Given the description of an element on the screen output the (x, y) to click on. 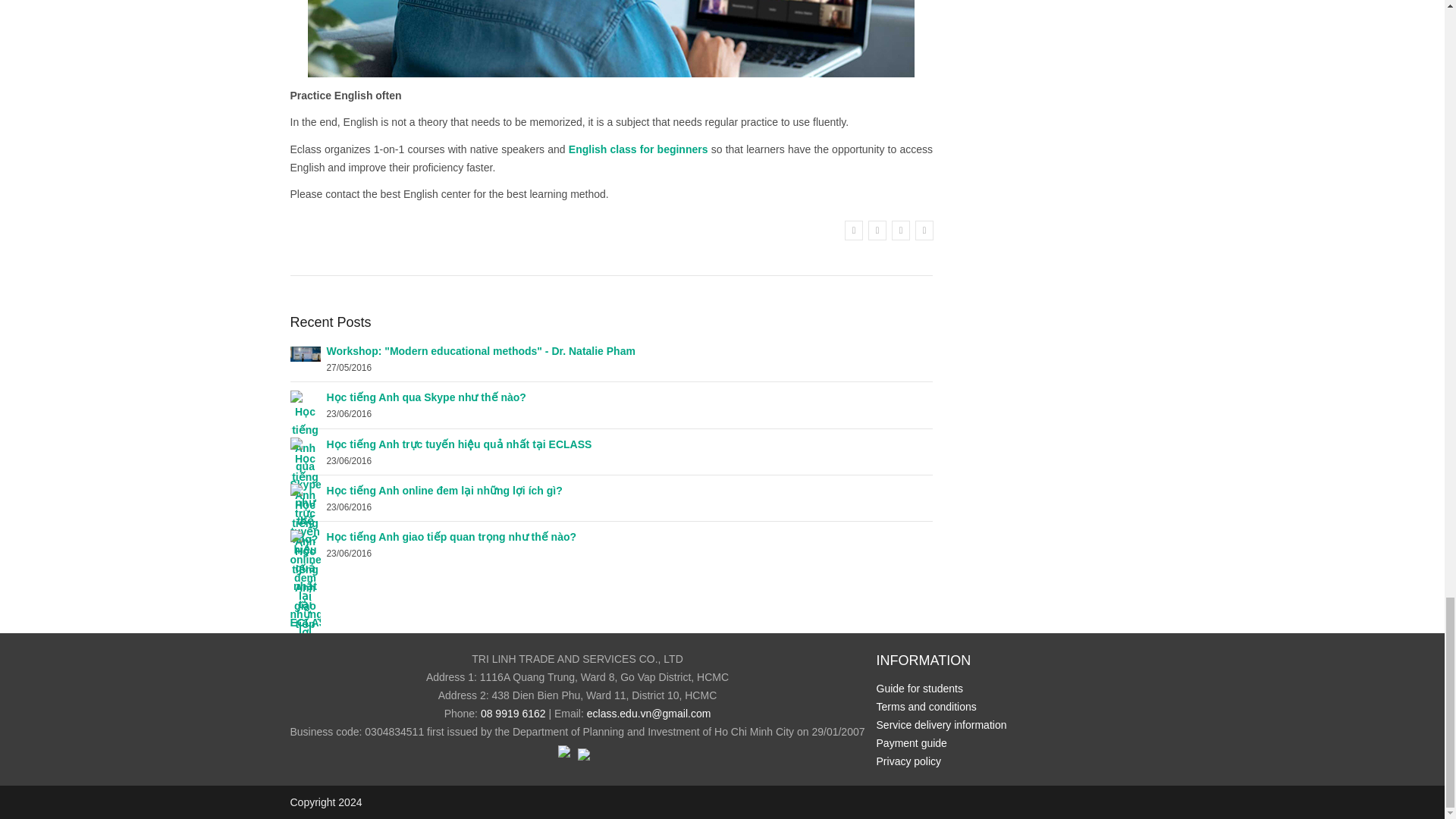
Terms and conditions (926, 706)
Workshop: "Modern educational methods" - Dr. Natalie Pham (304, 353)
Guide for students (919, 688)
Workshop: "Modern educational methods" - Dr. Natalie Pham (480, 350)
08 9919 6162 (513, 713)
English class for beginners (638, 149)
Workshop: "Modern educational methods" - Dr. Natalie Pham (480, 350)
